Given the description of an element on the screen output the (x, y) to click on. 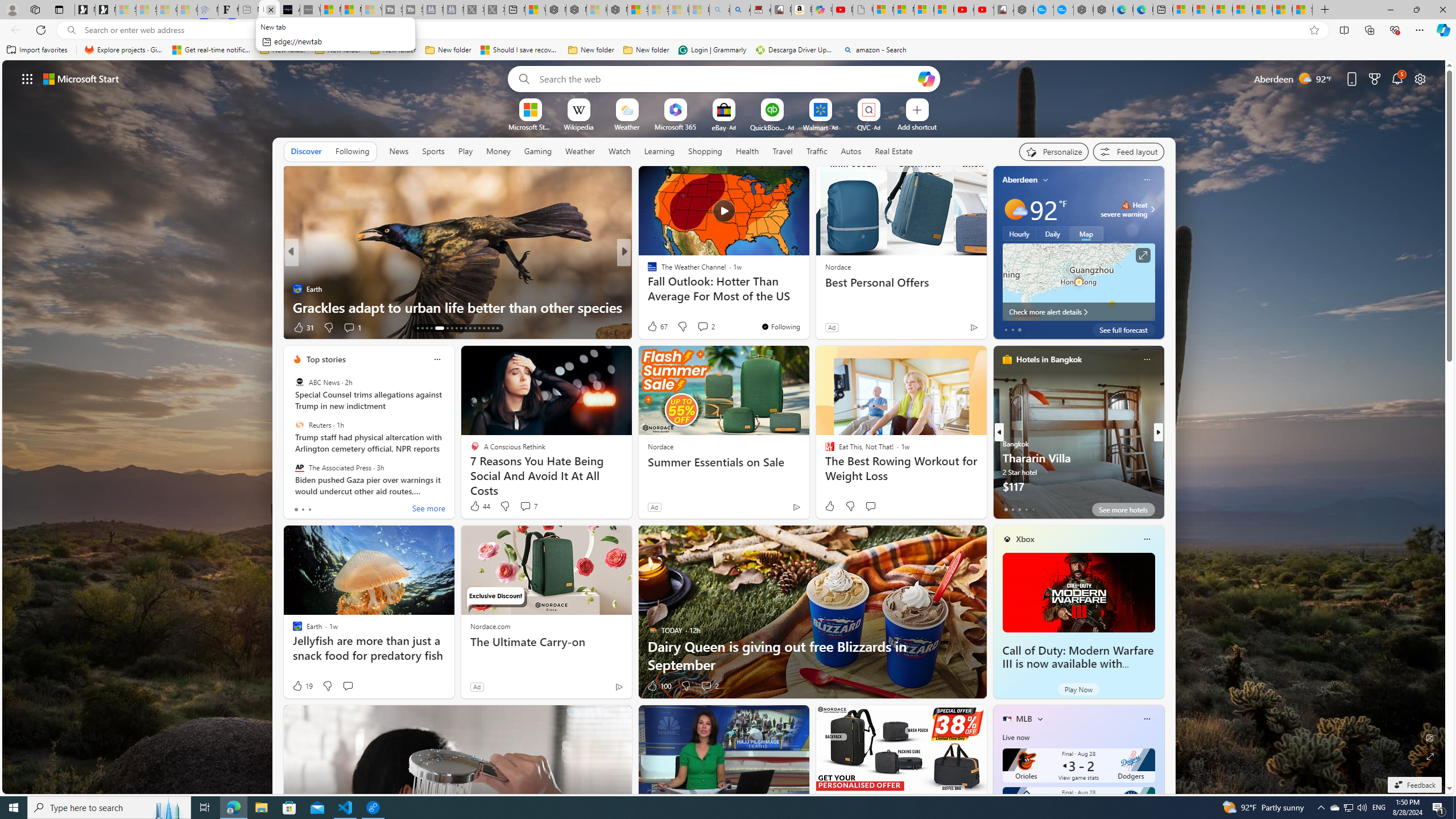
AutomationID: tab-19 (426, 328)
The Associated Press (299, 466)
Traffic (816, 151)
Aberdeen (1019, 179)
Start the conversation (347, 685)
50 Like (652, 327)
Notifications (1397, 78)
Personalize your feed" (1054, 151)
Mostly sunny (1014, 208)
Play (465, 151)
The Weather Channel (647, 270)
